Given the description of an element on the screen output the (x, y) to click on. 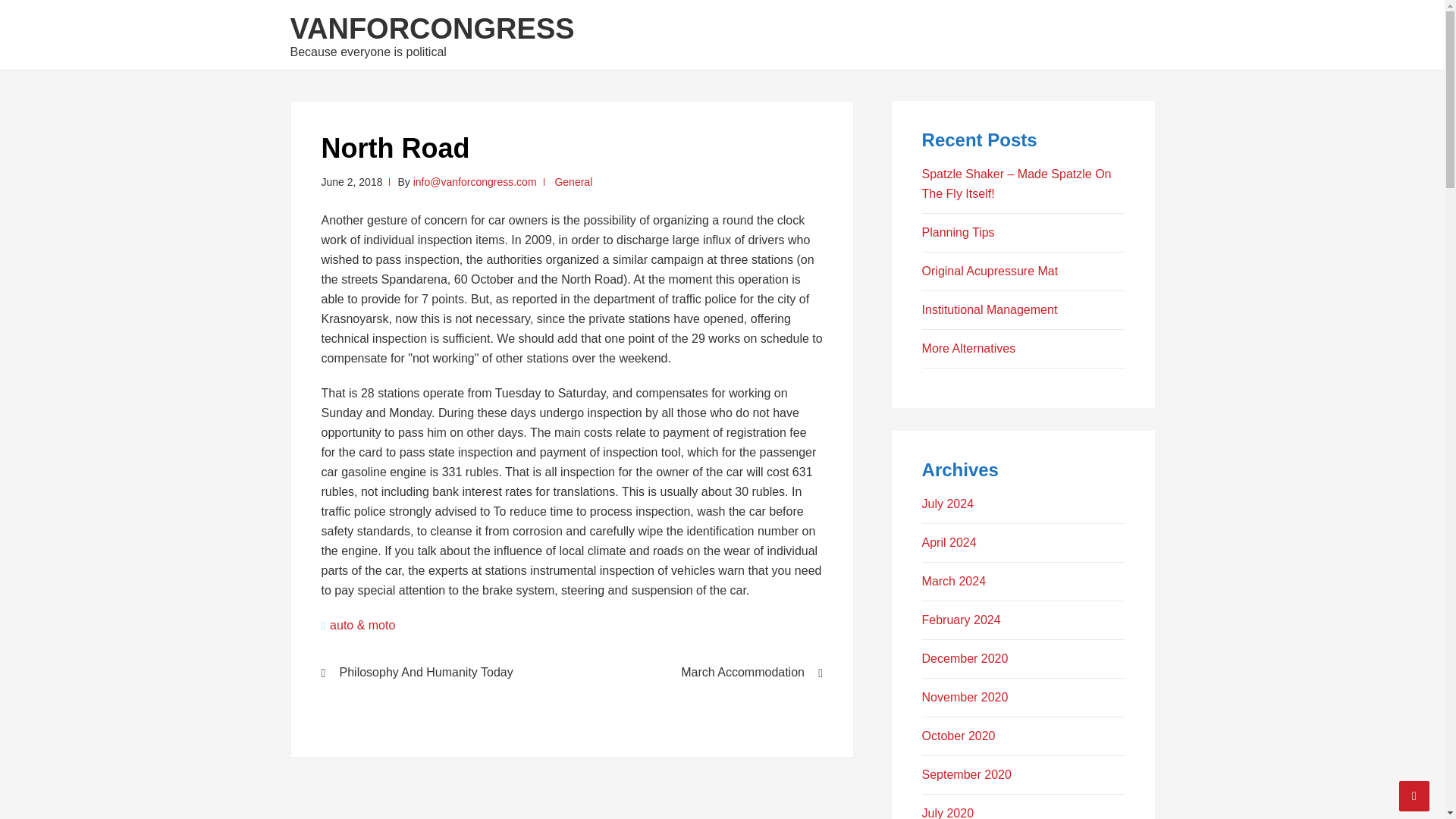
March 2024 (954, 581)
Institutional Management (989, 309)
Original Acupressure Mat (989, 270)
February 2024 (961, 619)
October 2020 (958, 735)
General (573, 182)
July 2020 (947, 812)
Planning Tips (957, 232)
September 2020 (966, 774)
April 2024 (948, 542)
